Given the description of an element on the screen output the (x, y) to click on. 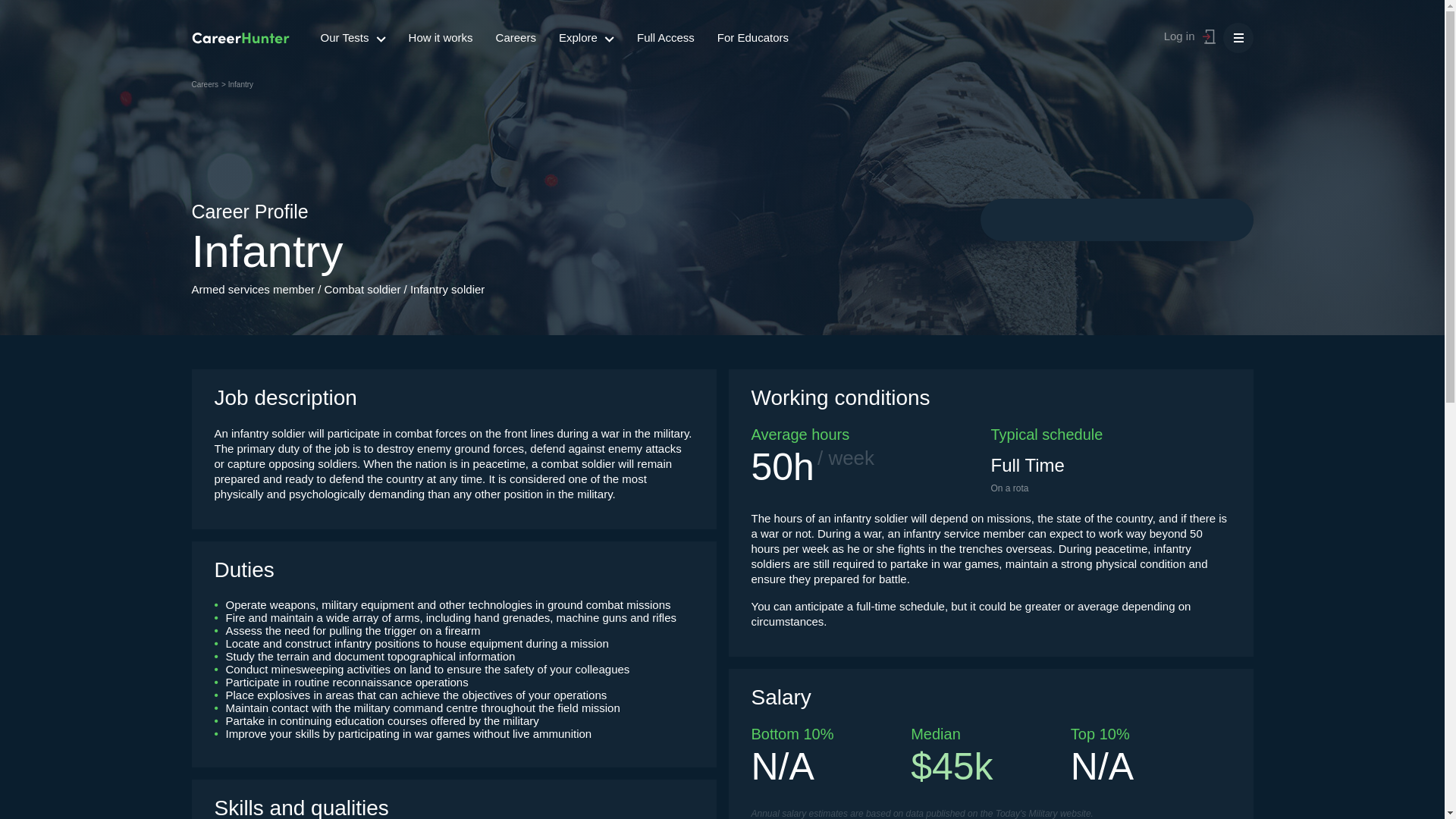
Careers (204, 83)
Our Tests (352, 37)
How it works (440, 37)
Log in (1212, 37)
For Educators (752, 37)
Explore (586, 37)
Full Access (666, 37)
Careers (515, 37)
Log in (1179, 34)
